Given the description of an element on the screen output the (x, y) to click on. 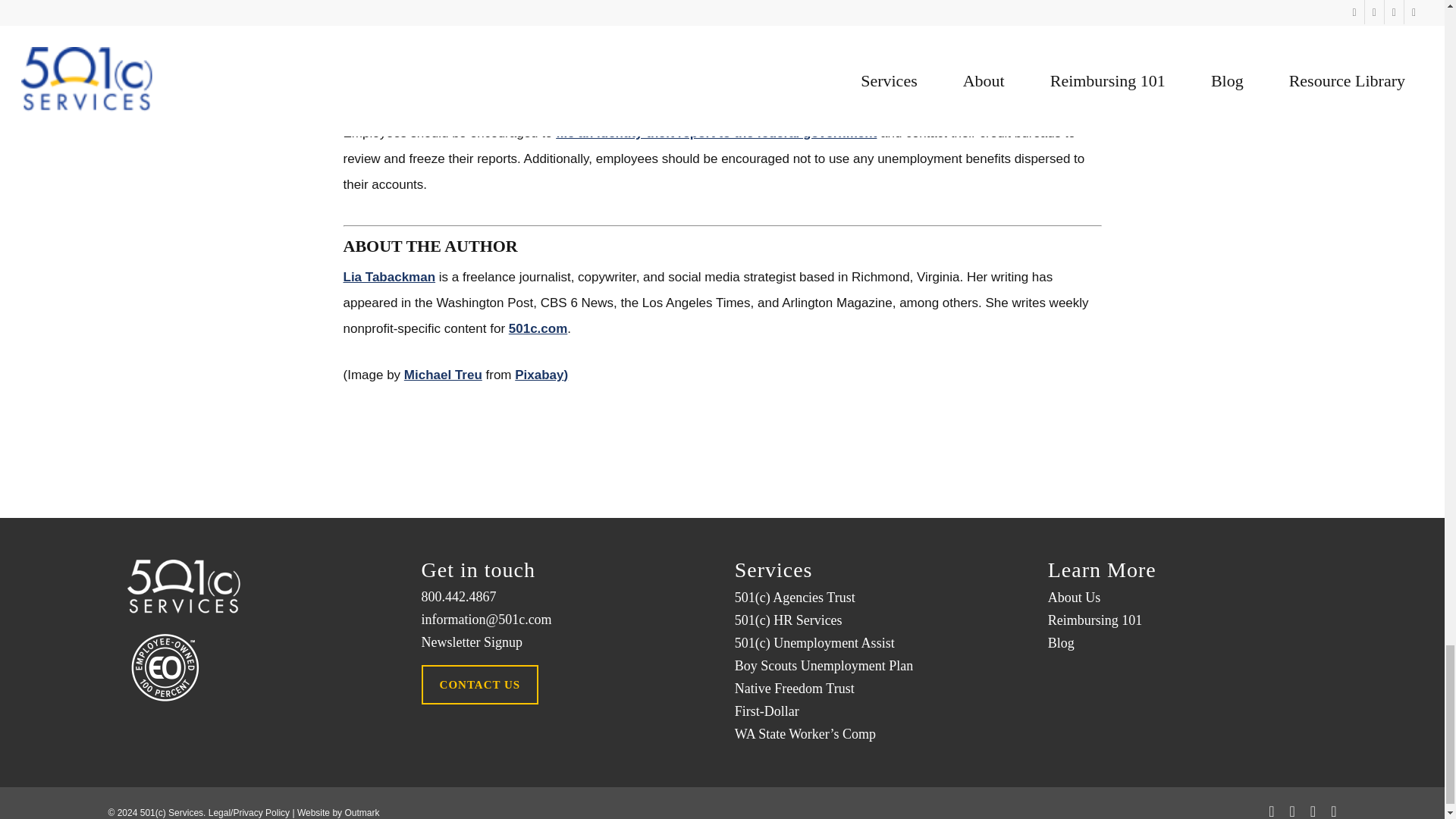
800.442.4867 (566, 596)
file an identity theft report to the federal government (716, 133)
Pixabay (539, 374)
Newsletter Signup (566, 641)
Lia Tabackman (388, 277)
501c.com (537, 328)
CONTACT US (480, 684)
Michael Treu (442, 374)
